Given the description of an element on the screen output the (x, y) to click on. 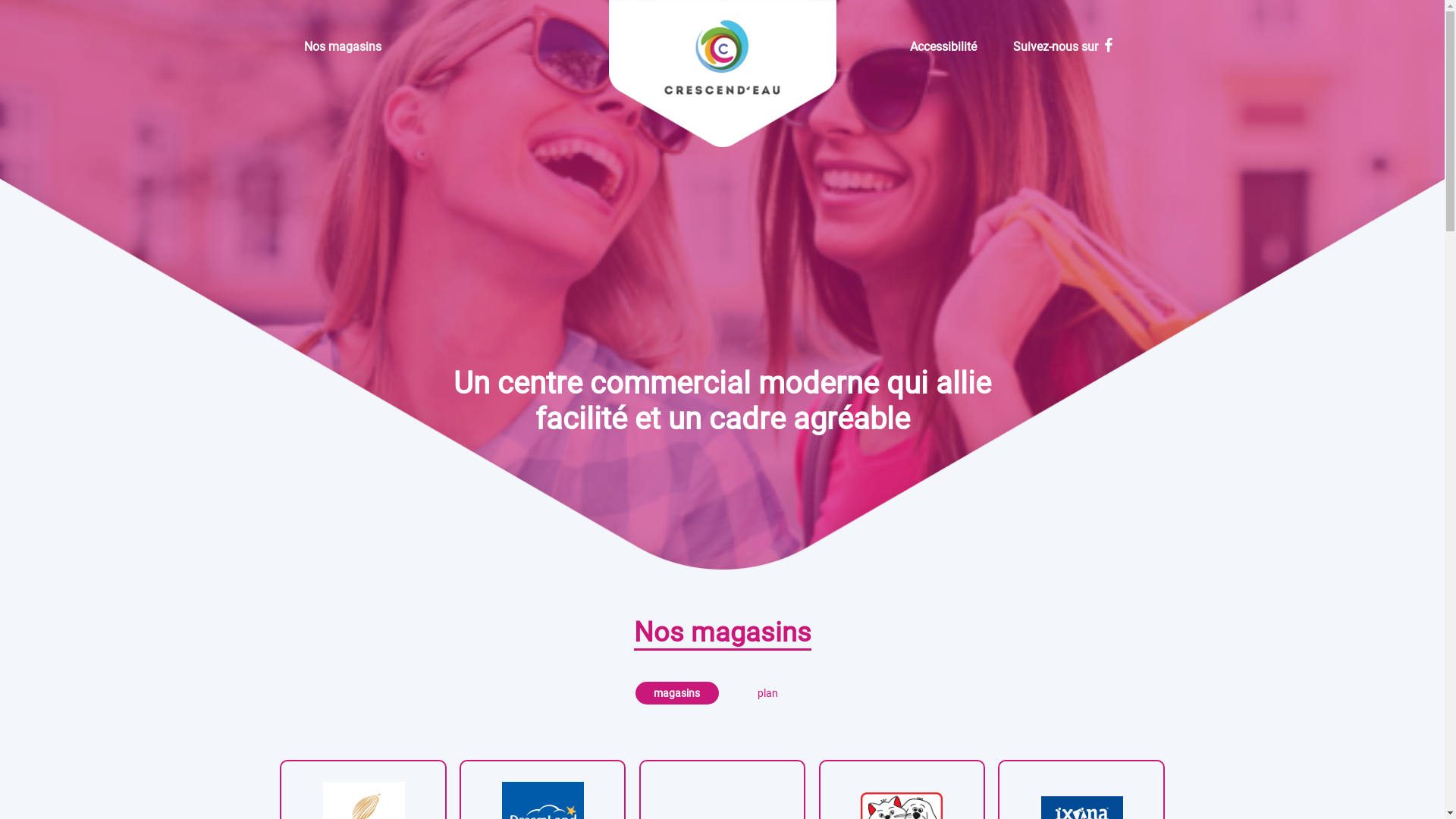
magasins Element type: text (676, 692)
Nos magasins Element type: text (341, 46)
Facebook Element type: hover (1108, 46)
plan Element type: text (767, 692)
